Given the description of an element on the screen output the (x, y) to click on. 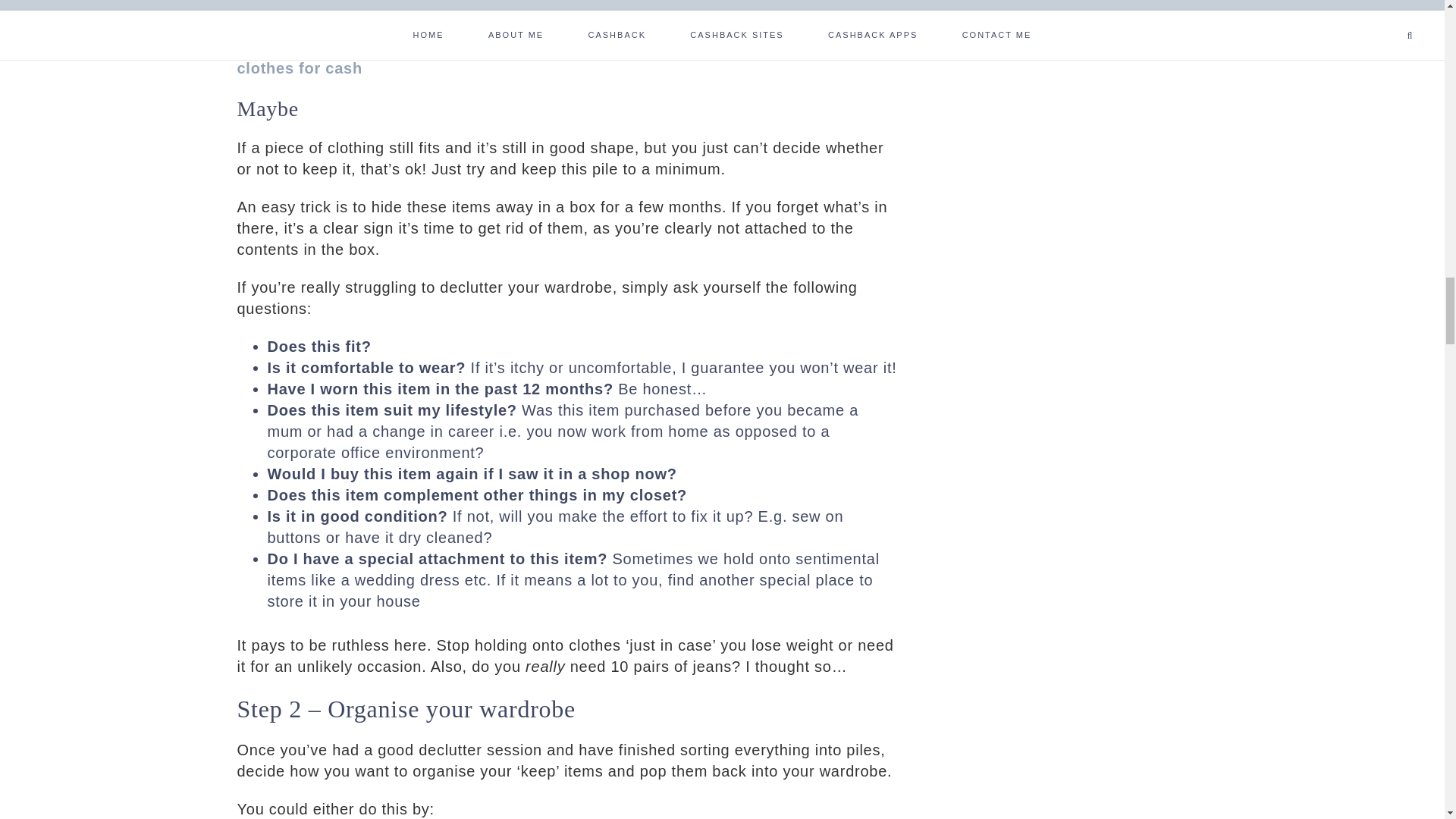
Find out more about recycling clothes for cash (534, 57)
